Given the description of an element on the screen output the (x, y) to click on. 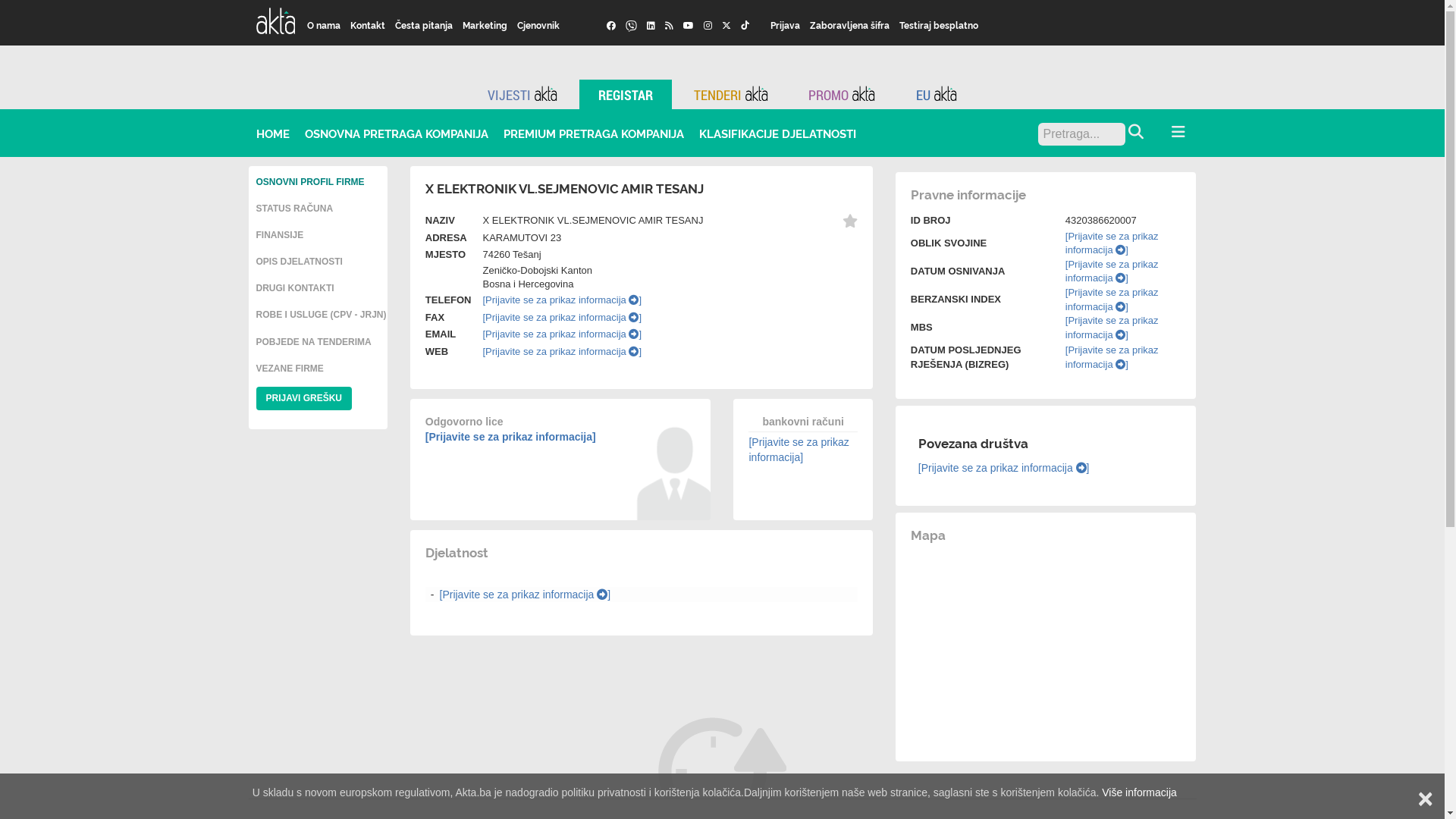
Kontakt Element type: text (367, 24)
[Prijavite se za prikaz informacija ] Element type: text (1111, 299)
[Prijavite se za prikaz informacija ] Element type: text (561, 333)
OSNOVNA PRETRAGA KOMPANIJA Element type: text (396, 133)
Map for KARAMUTOVI 23 Element type: hover (1045, 647)
KLASIFIKACIJE DJELATNOSTI Element type: text (777, 133)
[Prijavite se za prikaz informacija ] Element type: text (1111, 327)
HOME Element type: text (272, 133)
DRUGI KONTAKTI Element type: text (295, 287)
Prijava Element type: text (785, 24)
PREMIUM PRETRAGA KOMPANIJA Element type: text (593, 133)
Testiraj besplatno Element type: text (938, 24)
EU Element type: text (936, 94)
Marketing Element type: text (485, 24)
O nama Element type: text (323, 24)
[Prijavite se za prikaz informacija ] Element type: text (561, 299)
FINANSIJE Element type: text (280, 234)
PROMO Element type: text (841, 94)
REGISTAR Element type: text (625, 94)
[Prijavite se za prikaz informacija ] Element type: text (1111, 271)
VEZANE FIRME Element type: text (289, 368)
[Prijavite se za prikaz informacija ] Element type: text (561, 317)
[Prijavite se za prikaz informacija ] Element type: text (1111, 357)
[Prijavite se za prikaz informacija ] Element type: text (561, 351)
[Prijavite se za prikaz informacija] Element type: text (510, 436)
OSNOVNI PROFIL FIRME Element type: text (310, 181)
[Prijavite se za prikaz informacija ] Element type: text (1003, 467)
[Prijavite se za prikaz informacija] Element type: text (798, 449)
POBJEDE NA TENDERIMA Element type: text (313, 341)
OPIS DJELATNOSTI Element type: text (299, 261)
ROBE I USLUGE (CPV - JRJN) Element type: text (321, 314)
VIJESTI Element type: text (522, 94)
[Prijavite se za prikaz informacija ] Element type: text (1111, 243)
TENDERI Element type: text (730, 94)
Cjenovnik Element type: text (538, 24)
[Prijavite se za prikaz informacija ] Element type: text (525, 594)
